Given the description of an element on the screen output the (x, y) to click on. 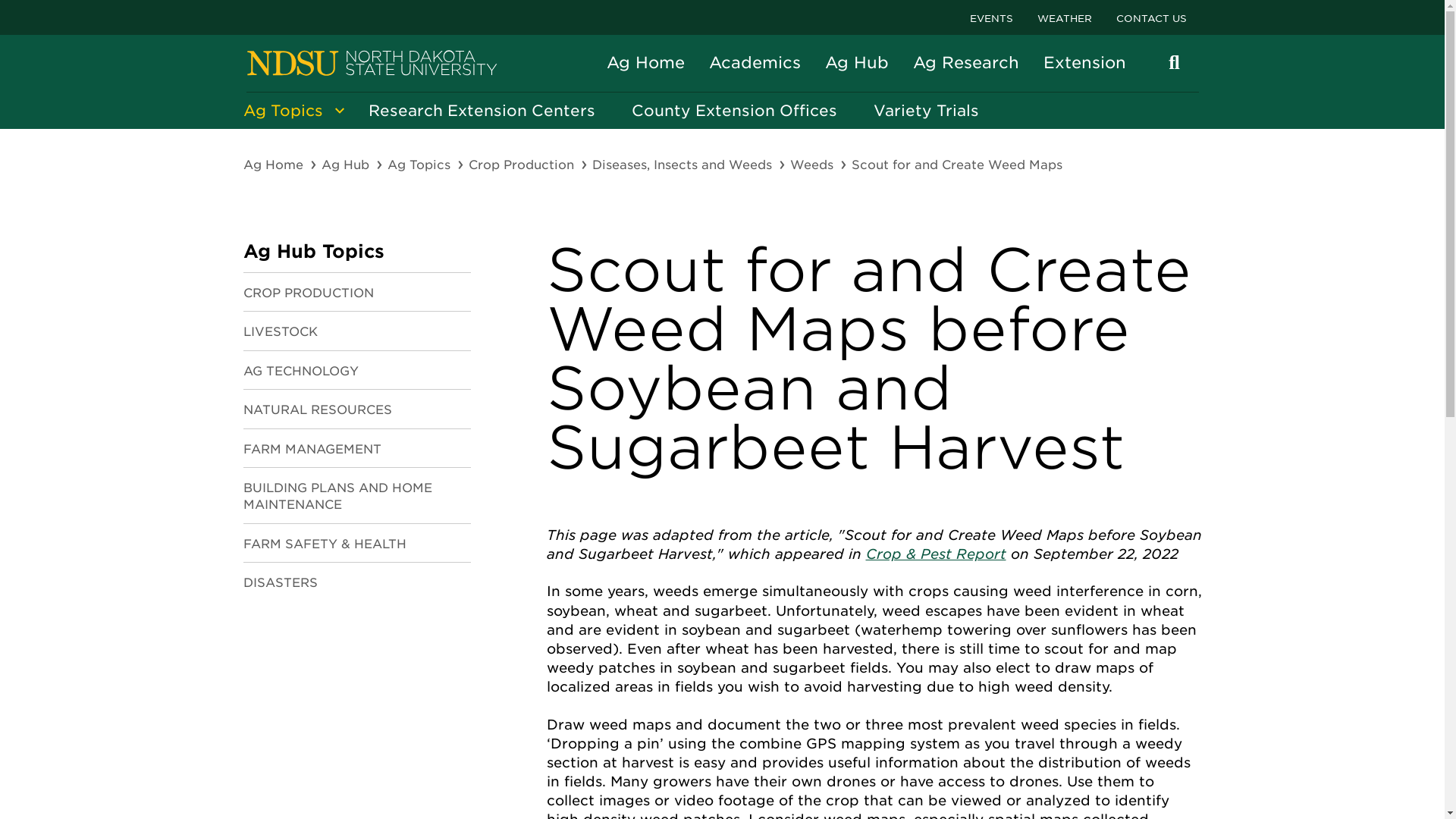
Ag Hub (856, 62)
Extension (1084, 62)
Ag Hub (346, 164)
Ag Research (965, 62)
Home (370, 62)
Weeds (812, 164)
CROP PRODUCTION (307, 298)
Variety Trials (926, 110)
WEATHER (1064, 17)
